Given the description of an element on the screen output the (x, y) to click on. 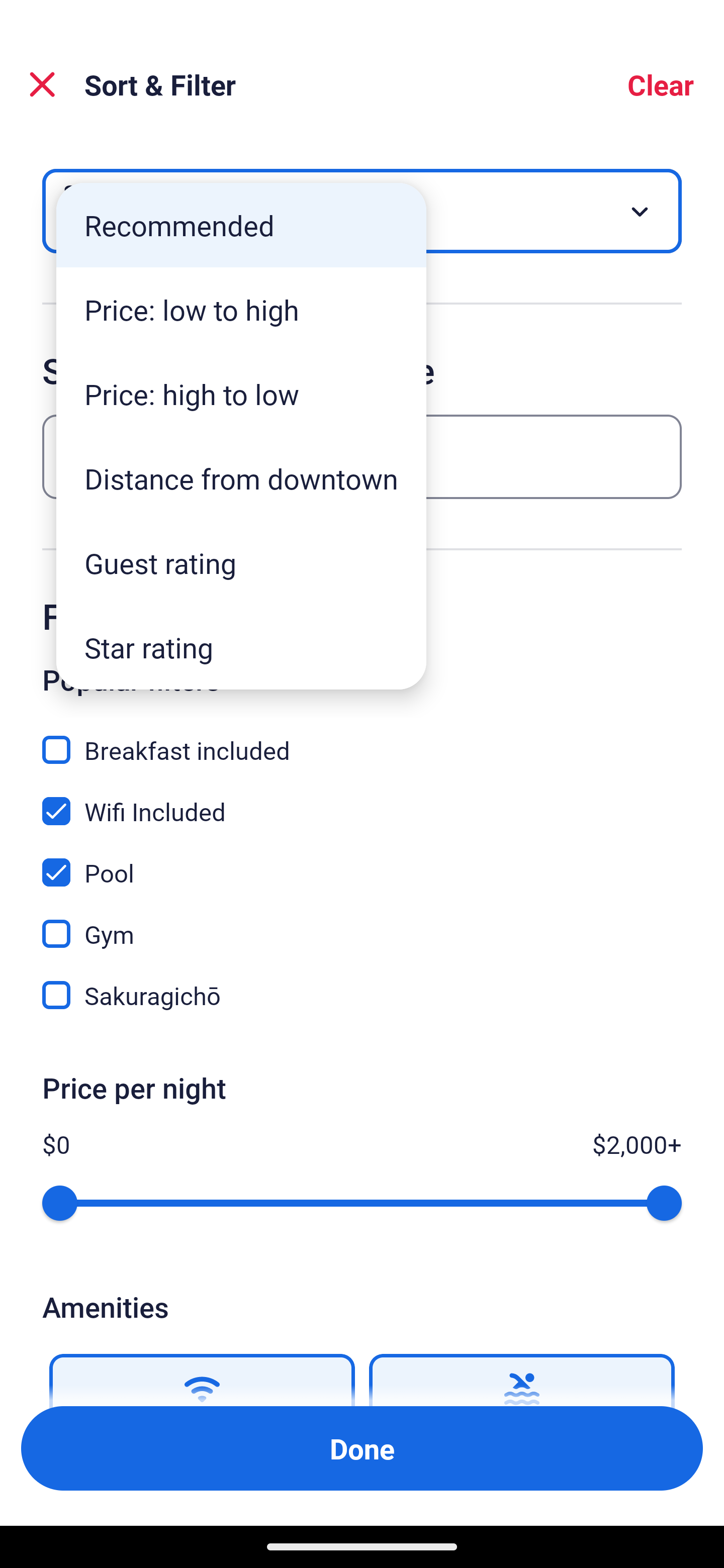
Price: low to high (241, 309)
Price: high to low (241, 393)
Distance from downtown (241, 477)
Guest rating (241, 562)
Star rating (241, 647)
